Given the description of an element on the screen output the (x, y) to click on. 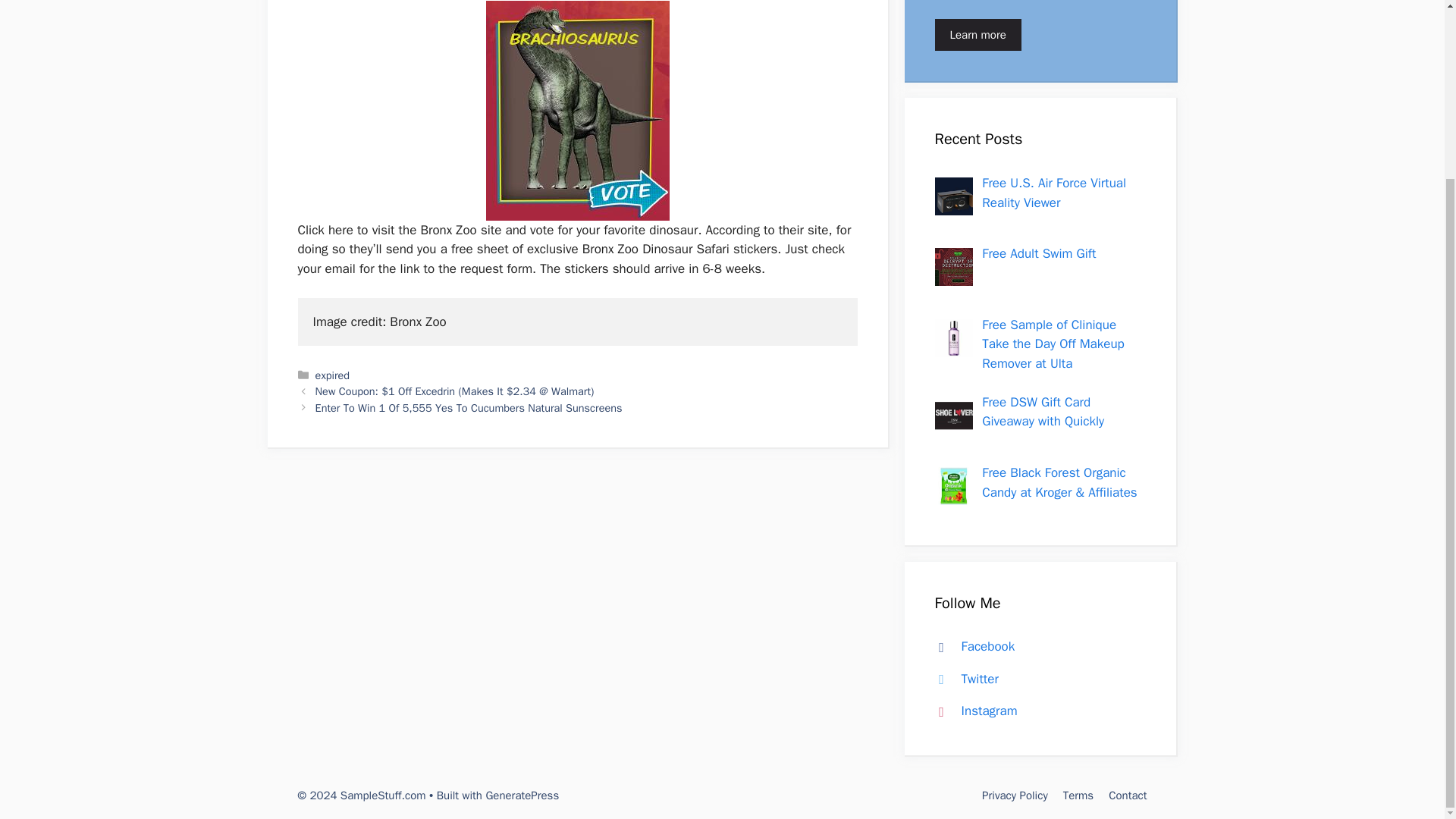
Twitter (962, 678)
Previous (454, 391)
Contact (1127, 795)
Enter To Win 1 Of 5,555 Yes To Cucumbers Natural Sunscreens (469, 407)
expired (332, 375)
Terms (1077, 795)
Next (469, 407)
Facebook (971, 646)
Facebook (971, 646)
Free U.S. Air Force Virtual Reality Viewer (1053, 192)
Instagram (972, 710)
Free Adult Swim Gift (1038, 253)
GeneratePress (521, 795)
Free DSW Gift Card Giveaway with Quickly (1042, 411)
